Given the description of an element on the screen output the (x, y) to click on. 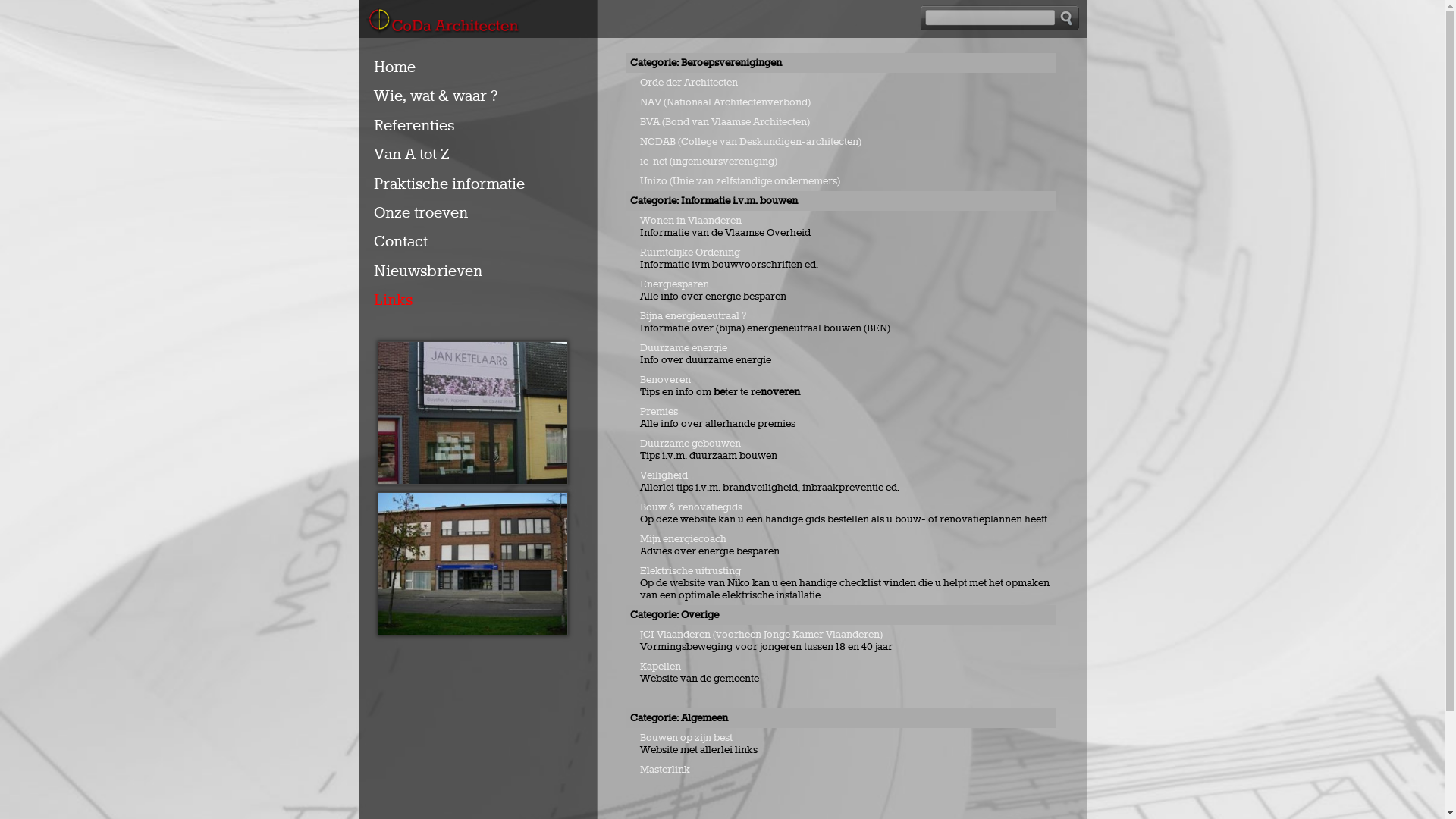
Onze troeven Element type: text (423, 212)
JCI Vlaanderen (voorheen Jonge Kamer Vlaanderen) Element type: text (761, 634)
Veiligheid Element type: text (663, 475)
Bijna energieneutraal ? Element type: text (693, 316)
Wie, wat & waar ? Element type: text (438, 96)
Premies Element type: text (658, 411)
Links Element type: text (396, 300)
Nieuwsbrieven Element type: text (431, 271)
Praktische informatie Element type: text (452, 184)
BVA (Bond van Vlaamse Architecten) Element type: text (724, 122)
Benoveren Element type: text (665, 379)
Unizo (Unie van zelfstandige ondernemers) Element type: text (740, 181)
Duurzame energie Element type: text (683, 348)
Bouwen op zijn best Element type: text (686, 737)
Referenties Element type: text (417, 125)
Duurzame gebouwen Element type: text (690, 443)
Wonen in Vlaanderen Element type: text (690, 220)
Van A tot Z Element type: text (414, 154)
Contact Element type: text (403, 241)
Geef de woorden op waarnaar u wilt zoeken. Element type: hover (988, 17)
Mijn energiecoach Element type: text (683, 539)
Elektrische uitrusting  Element type: text (691, 570)
Energiesparen Element type: text (674, 284)
Ruimtelijke Ordening Element type: text (690, 252)
Kapellen Element type: text (660, 666)
Orde der Architecten Element type: text (688, 82)
Masterlink Element type: text (665, 769)
ie-net (ingenieursvereniging) Element type: text (708, 161)
Bouw & renovatiegids Element type: text (691, 507)
NAV (Nationaal Architectenverbond) Element type: text (725, 102)
Home Element type: text (397, 67)
NCDAB (College van Deskundigen-architecten) Element type: text (750, 141)
